Given the description of an element on the screen output the (x, y) to click on. 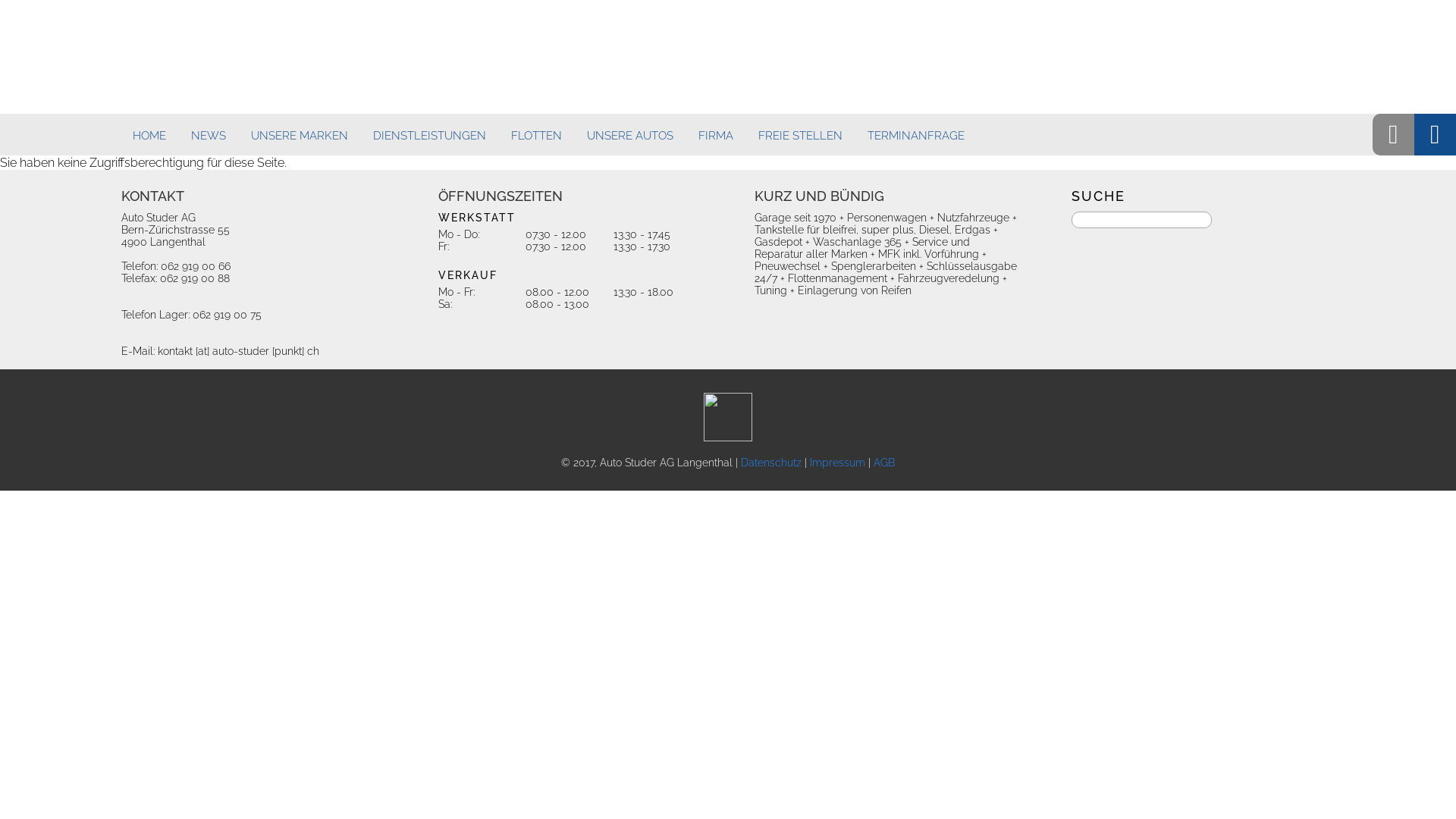
HOME Element type: text (149, 135)
FLOTTEN Element type: text (536, 135)
Impressum Element type: text (837, 462)
062 919 00 66 Element type: text (195, 266)
AGB Element type: text (883, 462)
FIRMA Element type: text (715, 135)
UNSERE AUTOS Element type: text (629, 135)
Direkt zum Inhalt Element type: text (0, 0)
TERMINANFRAGE Element type: text (915, 135)
UNSERE MARKEN Element type: text (299, 135)
NEWS Element type: text (208, 135)
FREIE STELLEN Element type: text (799, 135)
Suche Element type: text (21, 8)
Datenschutz Element type: text (770, 462)
visit us on facebook Element type: hover (727, 416)
Die Begriffe eingeben, nach denen gesucht werden soll. Element type: hover (1140, 219)
DIENSTLEISTUNGEN Element type: text (429, 135)
